Given the description of an element on the screen output the (x, y) to click on. 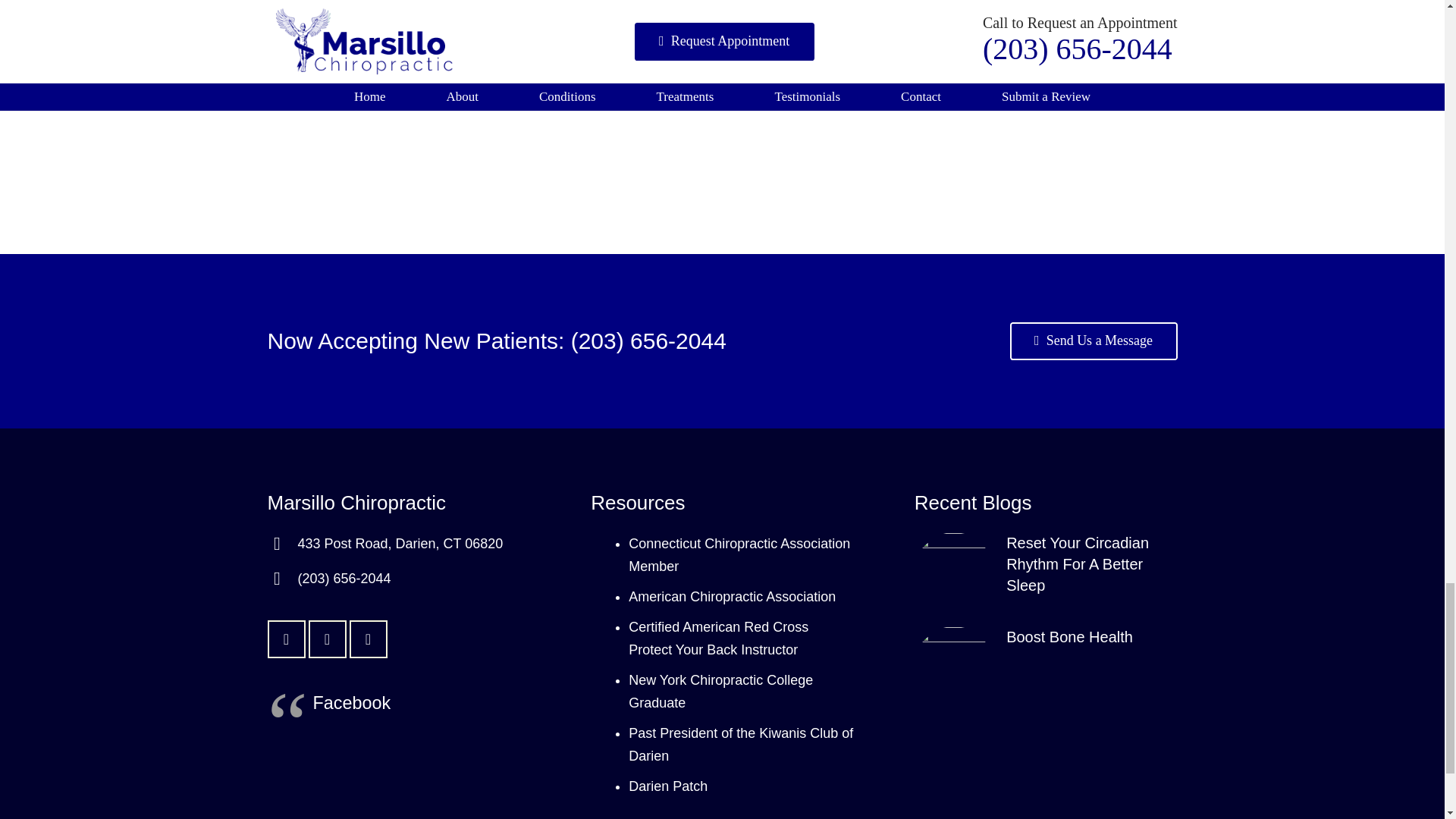
Facebook (326, 638)
Certified American Red Cross Protect Your Back Instructor (718, 638)
Send Us a Message (1093, 341)
Google (368, 638)
Facebook (351, 702)
Email (285, 638)
Past President of the Kiwanis Club of Darien (740, 744)
American Chiropractic Association (731, 596)
Connecticut Chiropractic Association Member (739, 555)
New York Chiropractic College Graduate (720, 691)
